Given the description of an element on the screen output the (x, y) to click on. 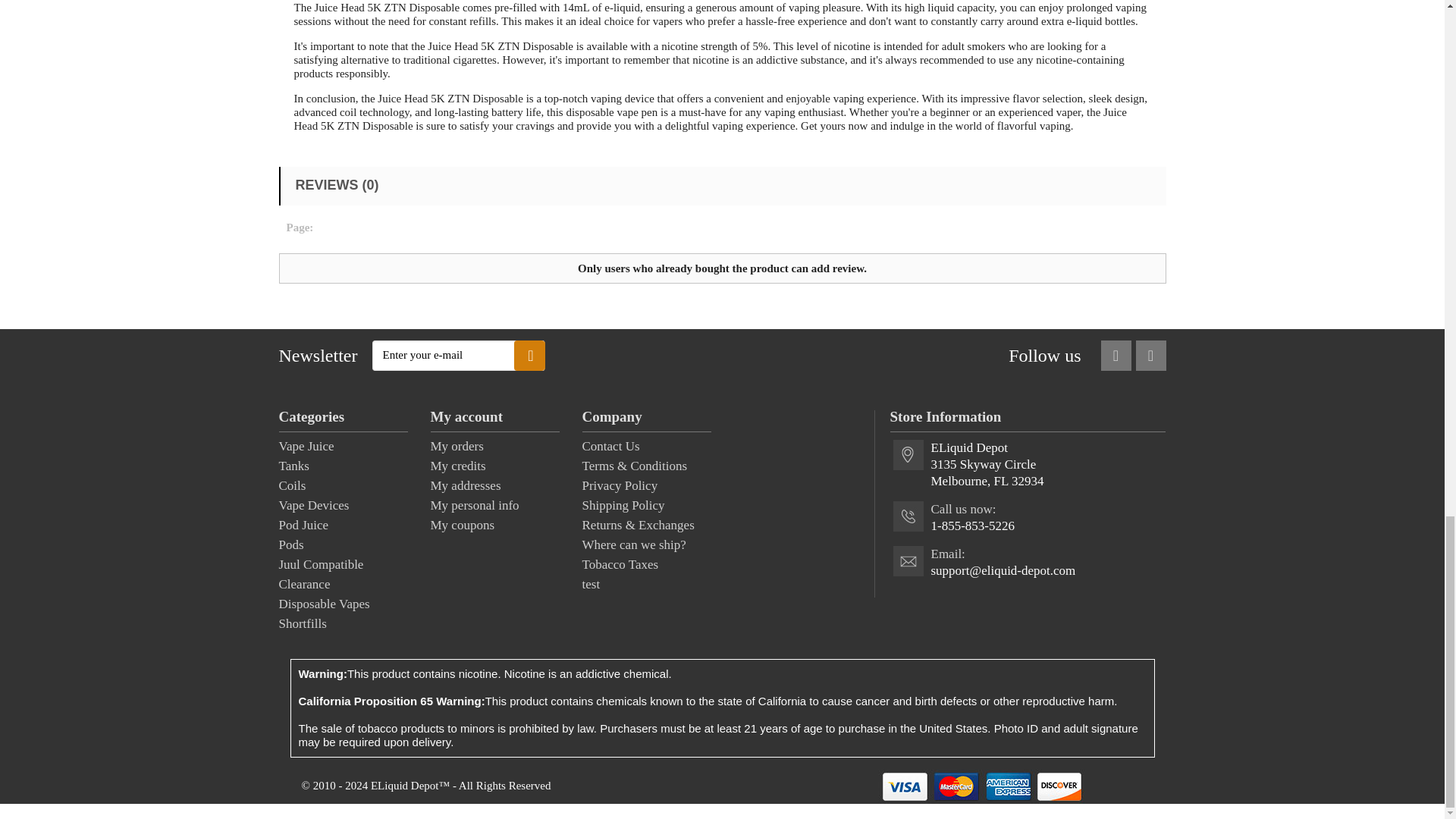
Enter your e-mail (458, 355)
